Given the description of an element on the screen output the (x, y) to click on. 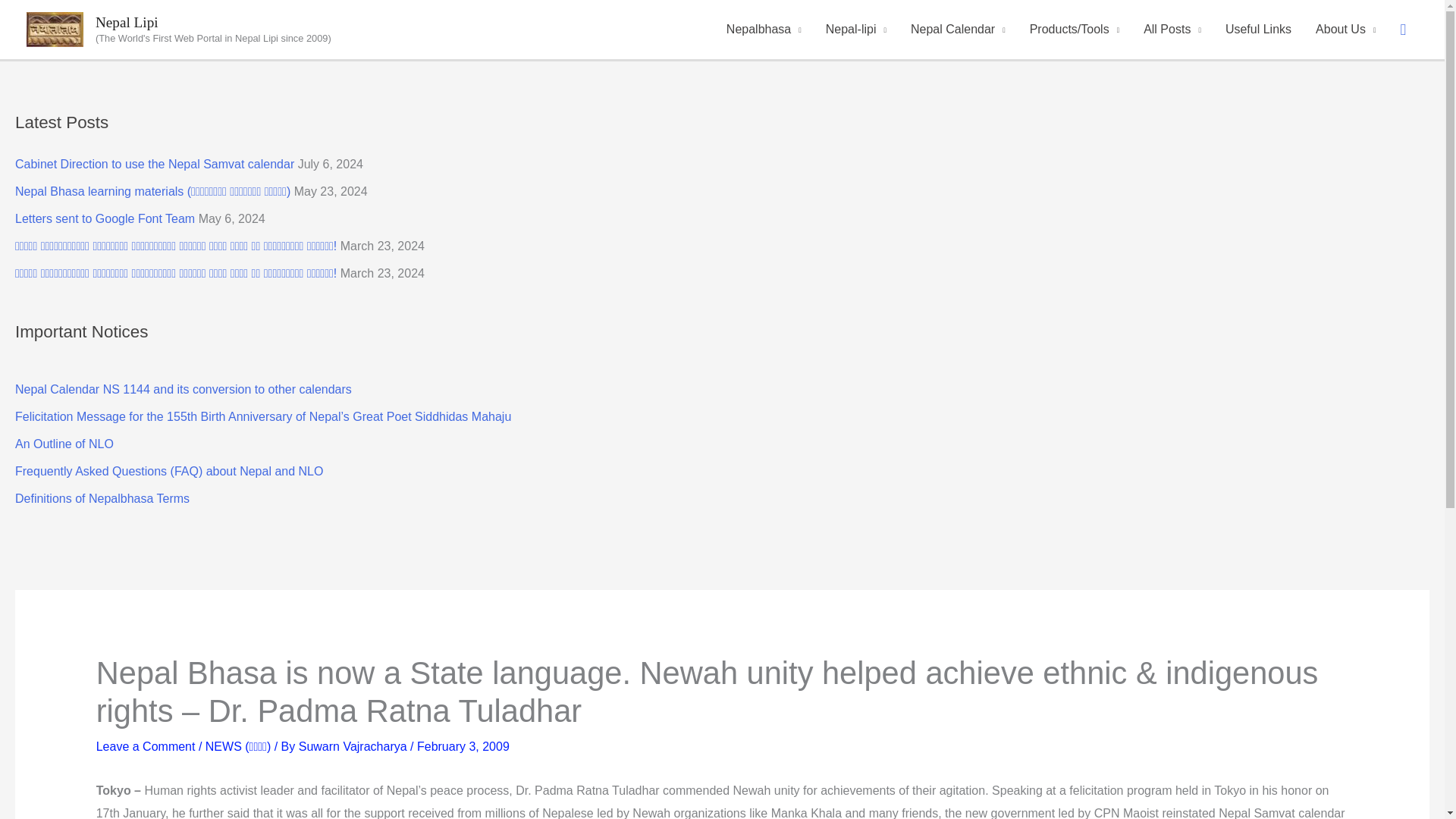
Letters sent to Google Font Team (104, 218)
Nepal-lipi (855, 29)
View all posts by Suwarn Vajracharya (354, 746)
Nepal Calendar (957, 29)
Nepal Calendar NS 1144 and its conversion to other calendars (183, 389)
Nepalbhasa (763, 29)
Cabinet Direction to use the Nepal Samvat calendar (154, 164)
Useful Links (1257, 29)
All Posts (1171, 29)
About Us (1345, 29)
Nepal Lipi (127, 22)
